Given the description of an element on the screen output the (x, y) to click on. 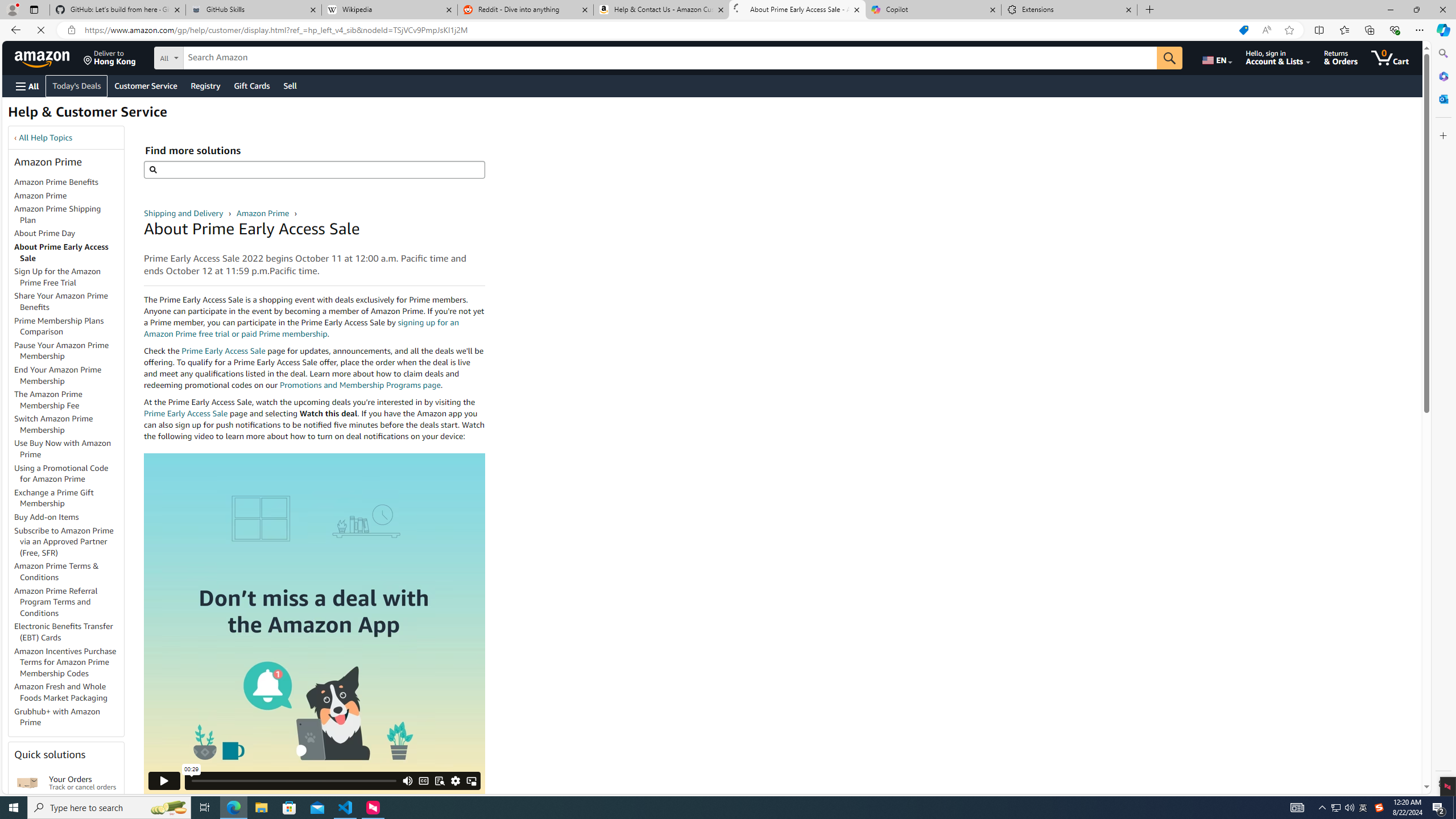
Reddit - Dive into anything (525, 9)
GitHub Skills (253, 9)
Go (1177, 57)
Registry (205, 85)
Hello, sign in Account & Lists (1286, 57)
Open Menu (26, 86)
Grocery Deals (285, 106)
Gift Cards (251, 85)
Extensions (1068, 9)
